Given the description of an element on the screen output the (x, y) to click on. 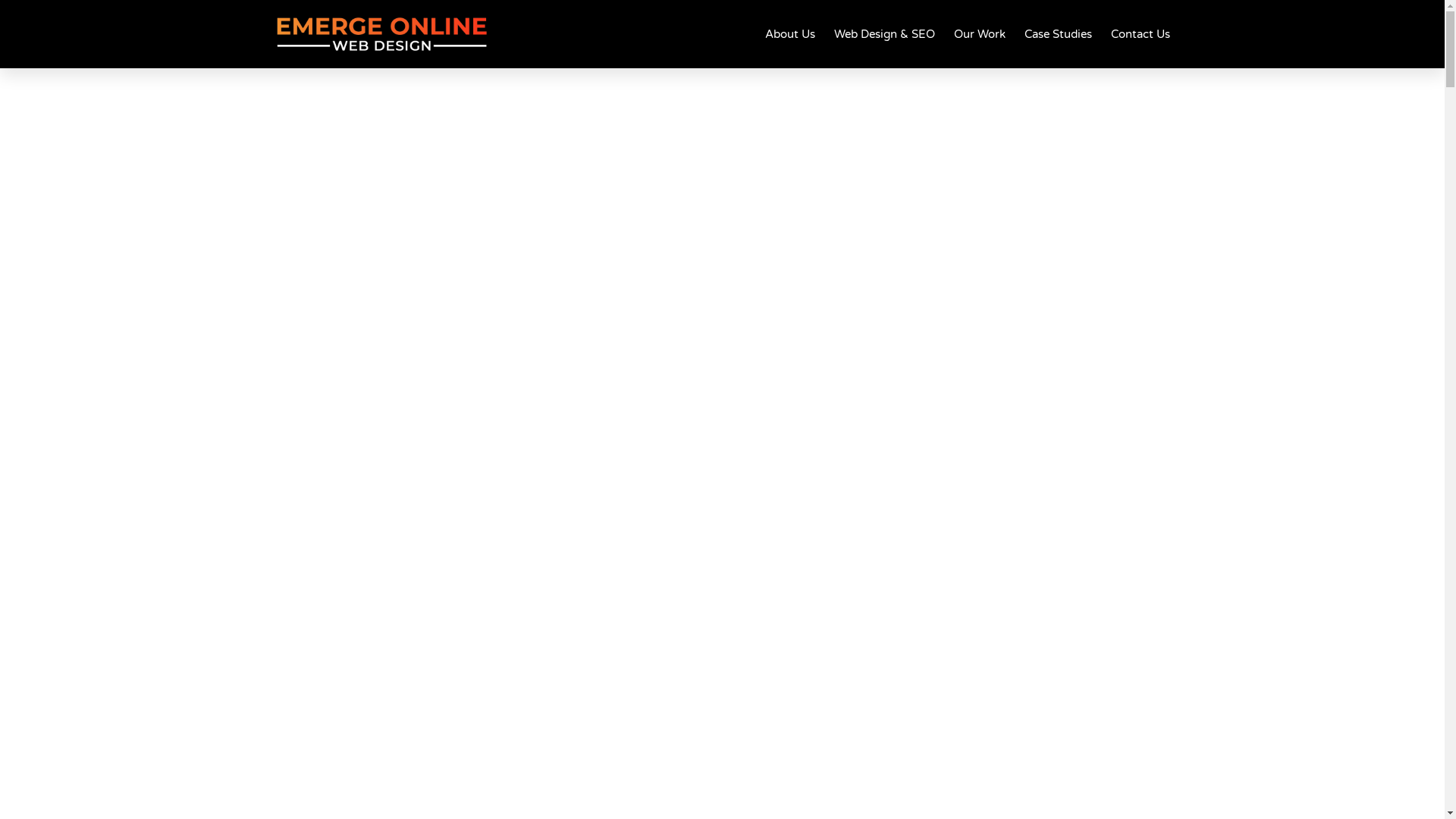
Contact Us Element type: text (1139, 33)
Case Studies Element type: text (1057, 33)
Web Design & SEO Element type: text (884, 33)
Our Work Element type: text (979, 33)
About Us Element type: text (789, 33)
